Given the description of an element on the screen output the (x, y) to click on. 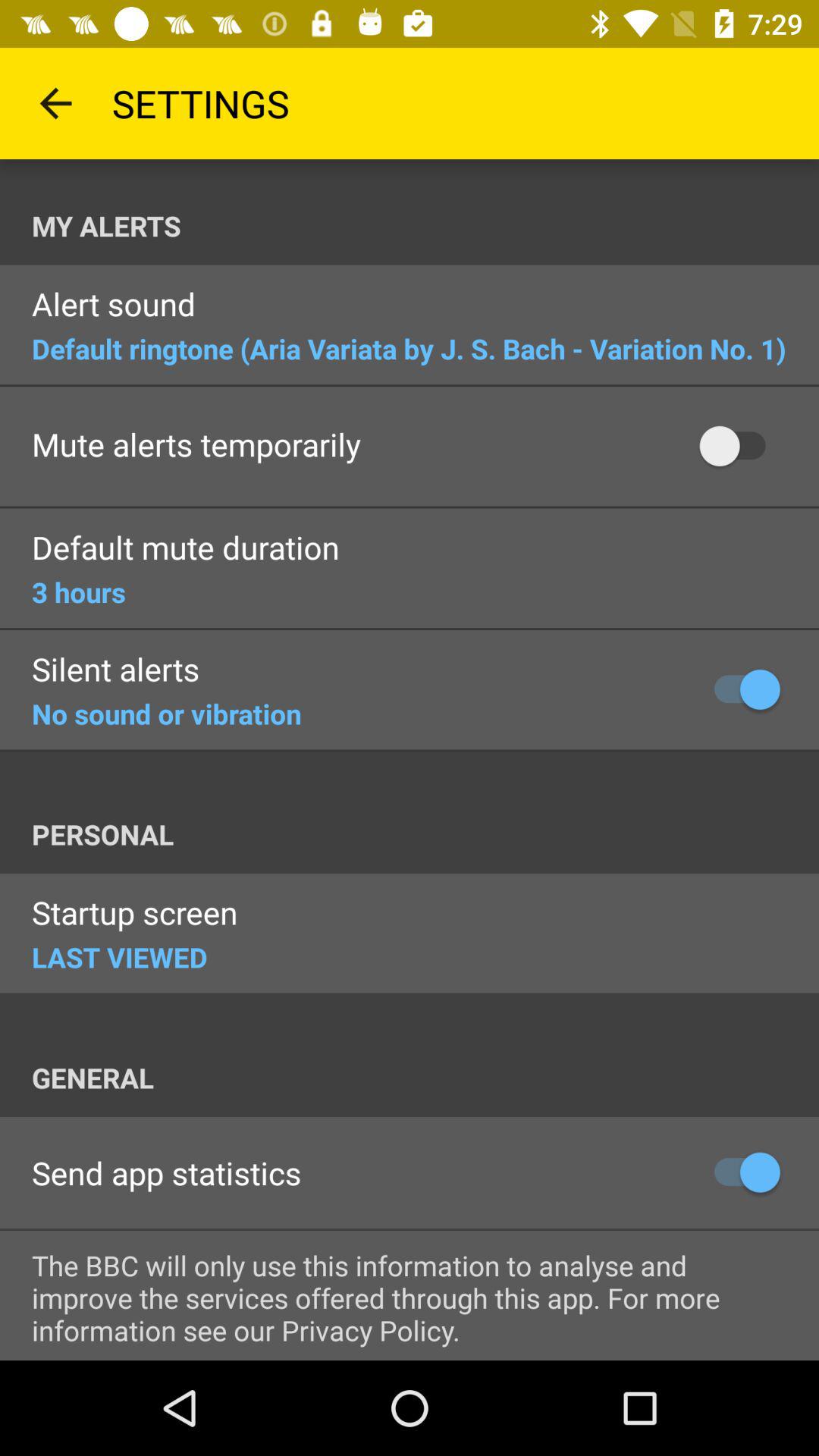
tap the item below the silent alerts item (166, 713)
